Given the description of an element on the screen output the (x, y) to click on. 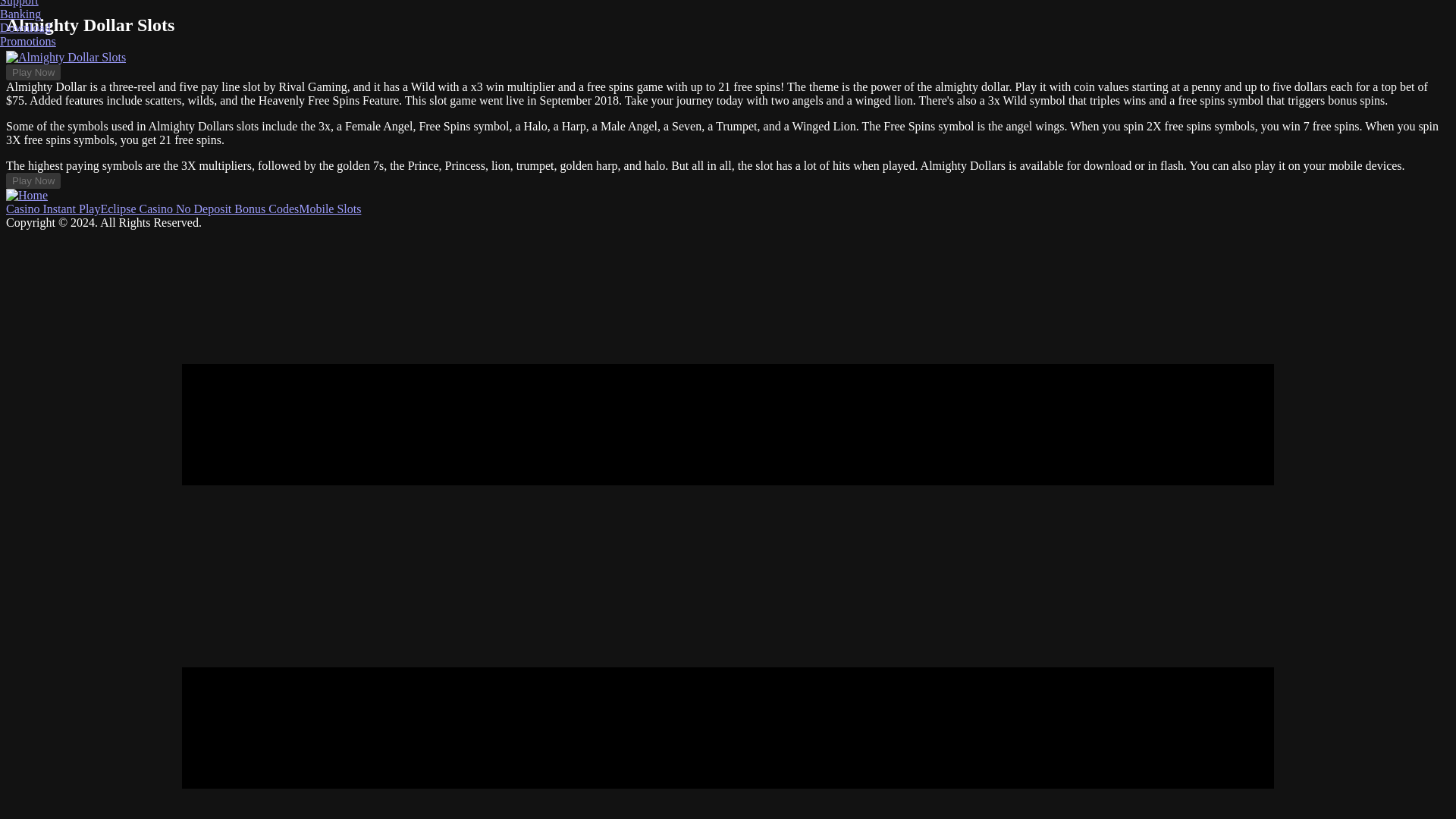
Play Now (33, 180)
Play Now (33, 72)
